Given the description of an element on the screen output the (x, y) to click on. 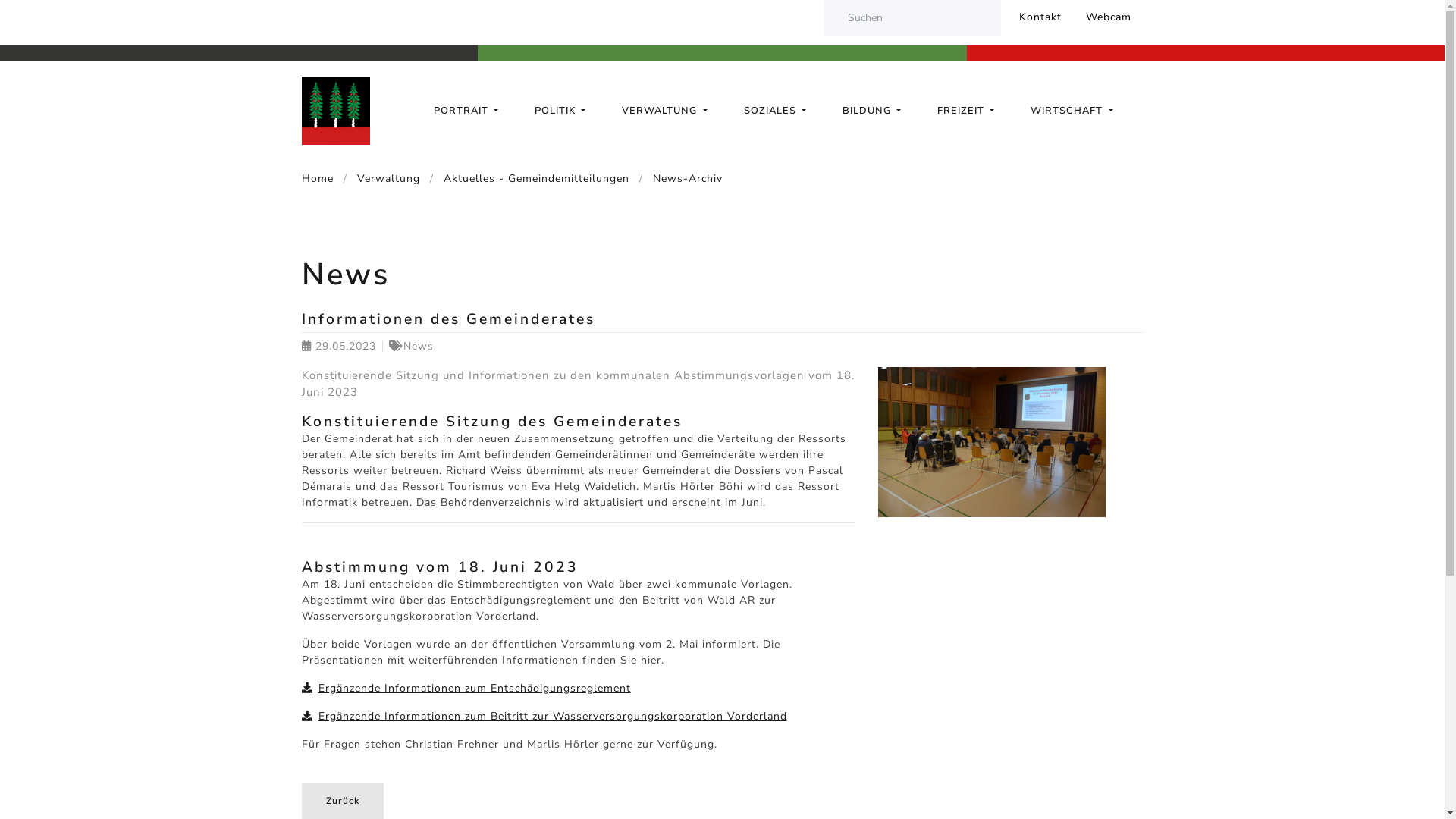
Kontakt Element type: text (1040, 18)
Aktuelles - Gemeindemitteilungen Element type: text (527, 178)
FREIZEIT Element type: text (965, 110)
Webcam Element type: text (1108, 18)
POLITIK Element type: text (559, 110)
BILDUNG Element type: text (871, 110)
PORTRAIT Element type: text (465, 110)
WIRTSCHAFT Element type: text (1071, 110)
VERWALTUNG Element type: text (663, 110)
News-Archiv Element type: text (676, 178)
Home Element type: text (319, 178)
Verwaltung Element type: text (379, 178)
SOZIALES Element type: text (774, 110)
